Given the description of an element on the screen output the (x, y) to click on. 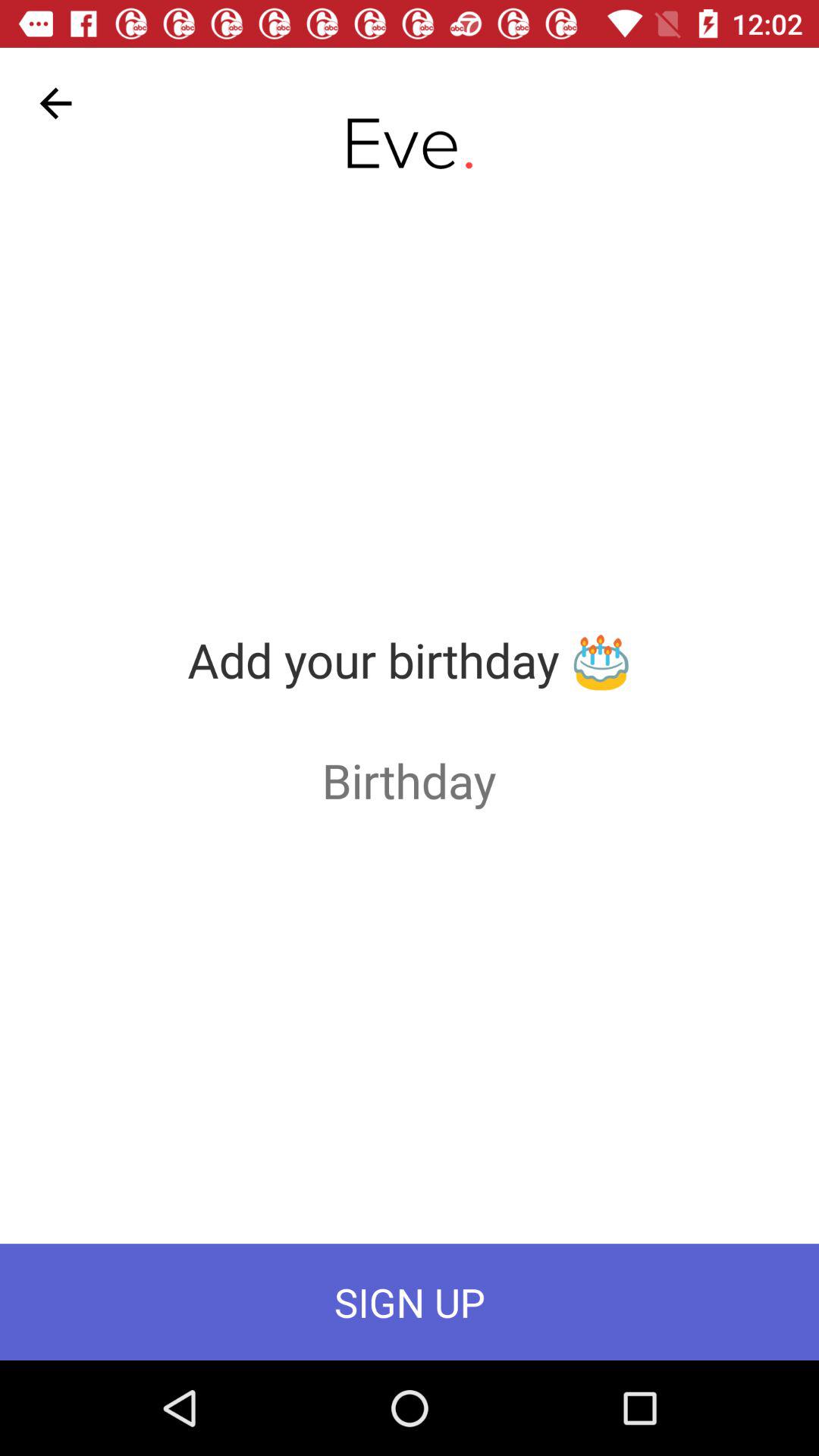
go back (55, 103)
